Given the description of an element on the screen output the (x, y) to click on. 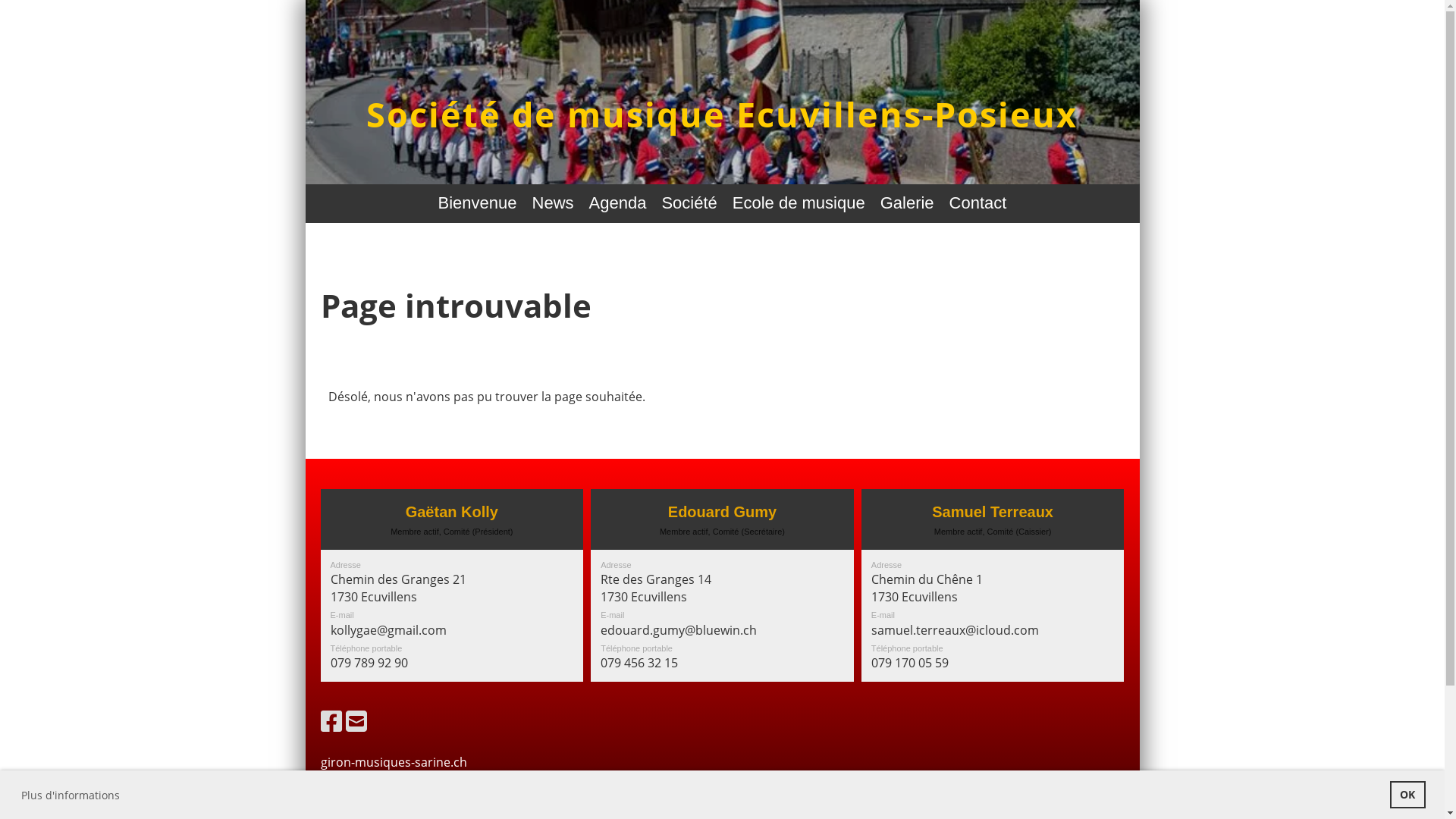
OK Element type: text (1407, 794)
Ecole de musique Element type: text (798, 203)
Plus d'informations Element type: text (70, 794)
Bienvenue Element type: text (477, 203)
Contact Element type: text (977, 203)
News Element type: text (552, 203)
Rte des Granges 14
1730 Ecuvillens Element type: text (655, 587)
Galerie Element type: text (906, 203)
edouard.gumy@bluewin.ch Element type: text (678, 629)
kollygae@gmail.com Element type: text (388, 629)
samuel.terreaux@icloud.com Element type: text (954, 629)
Agenda Element type: text (617, 203)
Chemin des Granges 21
1730 Ecuvillens Element type: text (398, 587)
